Given the description of an element on the screen output the (x, y) to click on. 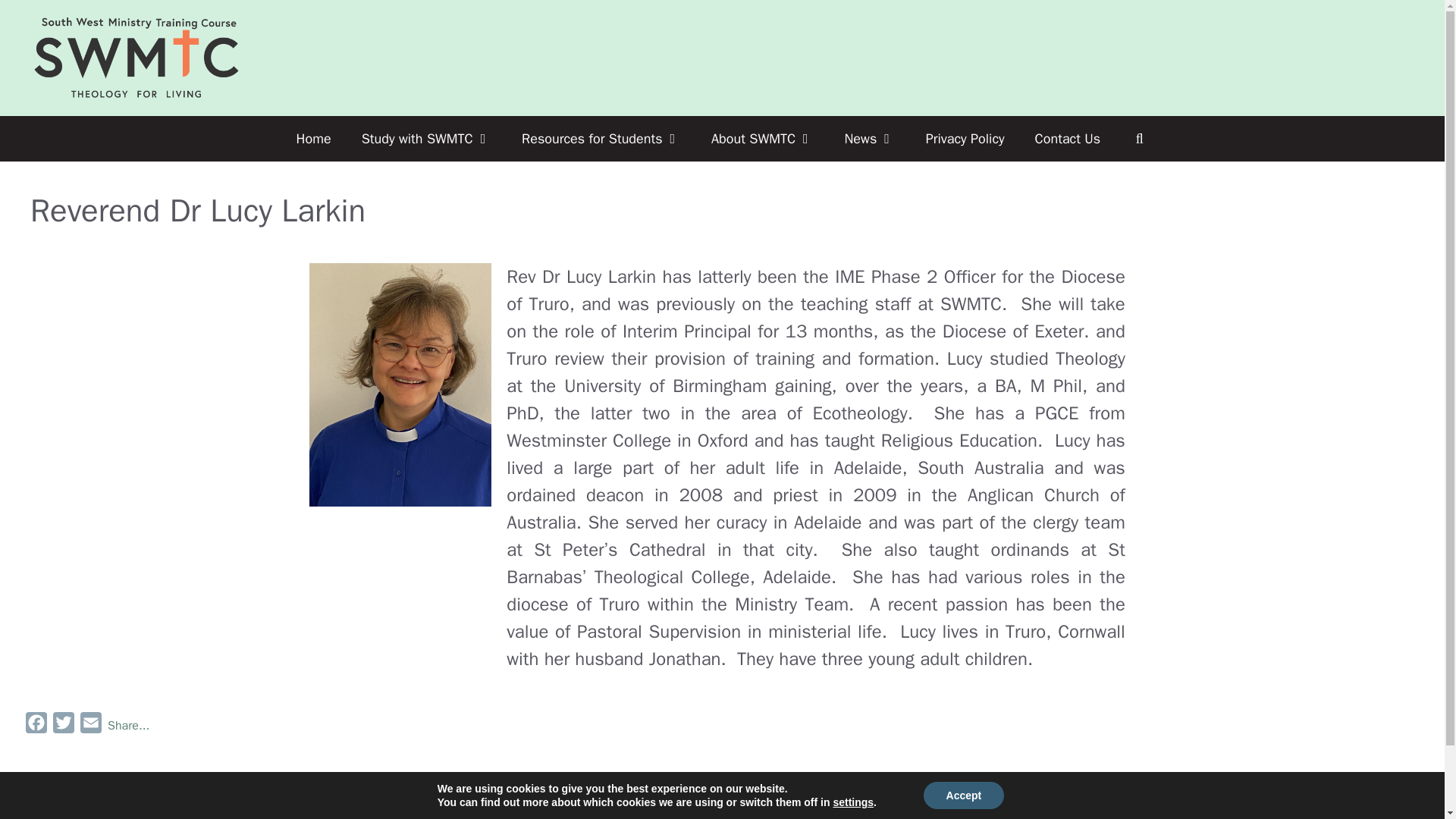
Facebook (36, 725)
Resources for Students (600, 138)
Twitter (63, 725)
Facebook (36, 725)
Study with SWMTC (426, 138)
Safeguarding Policy (721, 817)
Privacy Policy (965, 138)
Email (90, 725)
Twitter (63, 725)
Home (313, 138)
